Given the description of an element on the screen output the (x, y) to click on. 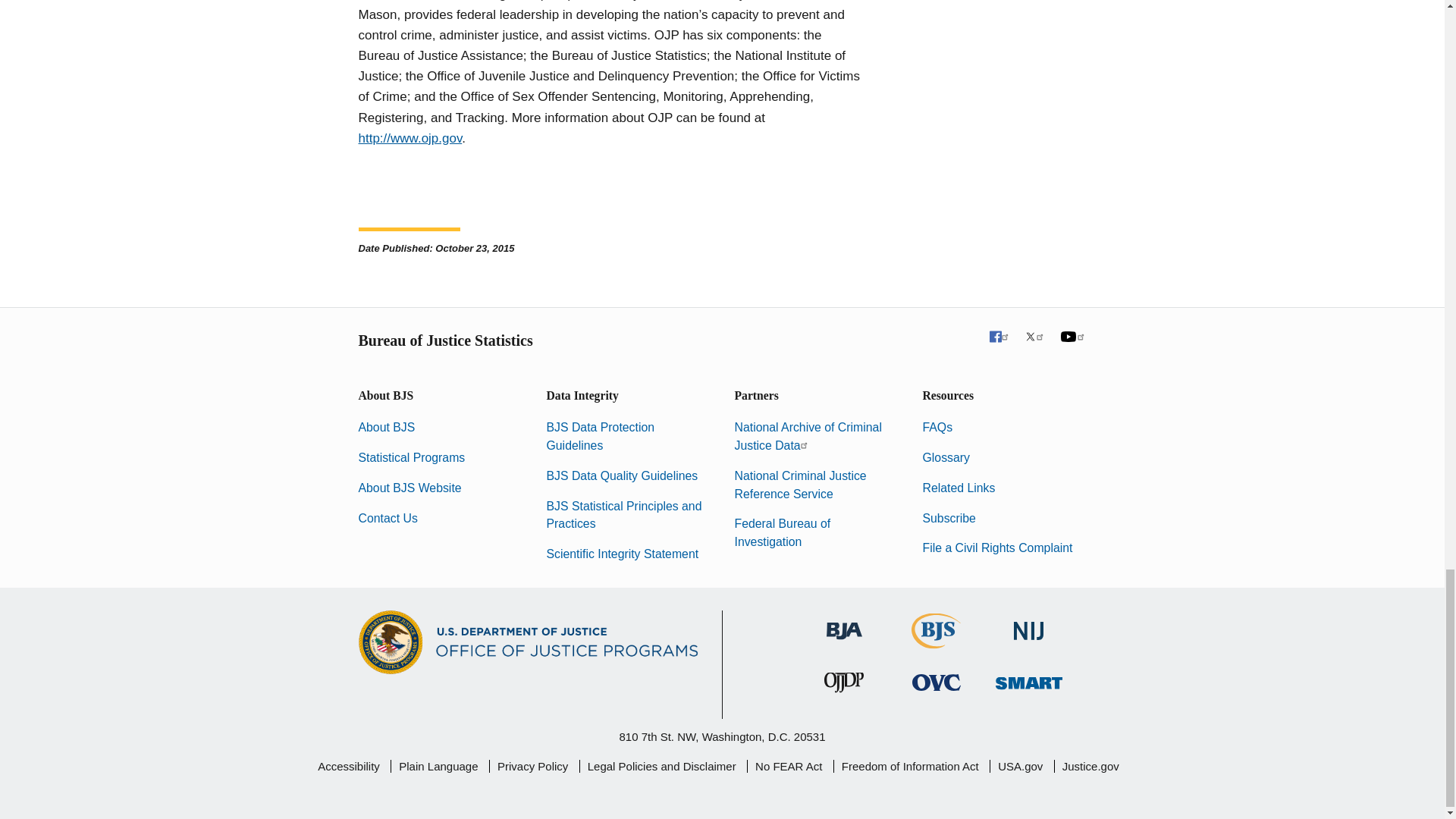
BJS Data Quality Guidelines (621, 475)
BJS Statistical Principles and Practices (623, 513)
About BJS Website (409, 487)
Contact Us (387, 517)
BJS Data Protection Guidelines (599, 436)
About BJS (386, 427)
Scientific Integrity Statement (622, 553)
Statistical Programs (411, 457)
National Archive of Criminal Justice Data (806, 436)
